Given the description of an element on the screen output the (x, y) to click on. 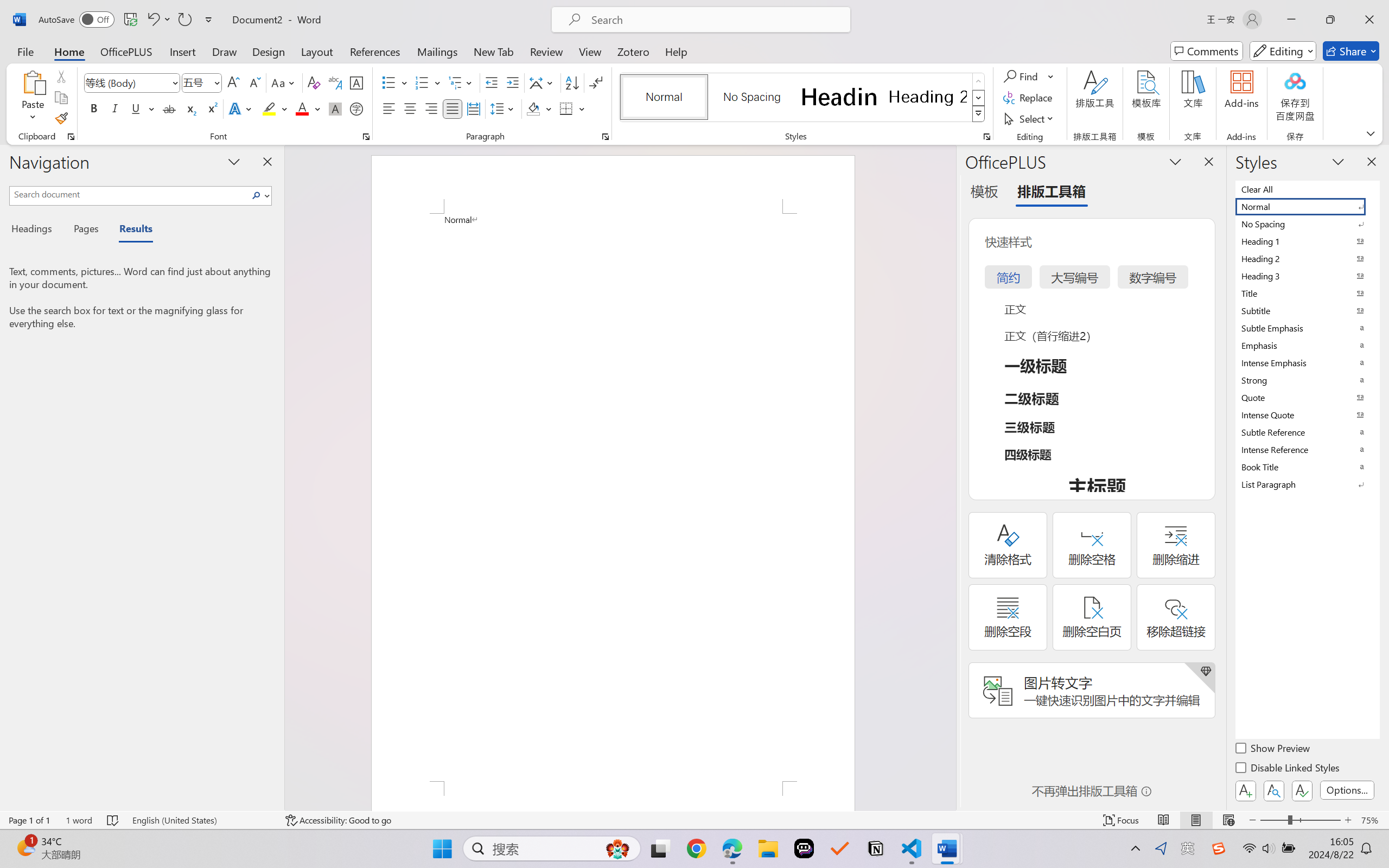
Enclose Characters... (356, 108)
Show Preview (1273, 749)
Class: Image (1218, 847)
Zoom Out (1273, 819)
AutomationID: DynamicSearchBoxGleamImage (617, 848)
Bold (94, 108)
Copy (60, 97)
Open (215, 82)
Word Count 1 word (78, 819)
Font... (365, 136)
Task Pane Options (1175, 161)
